Given the description of an element on the screen output the (x, y) to click on. 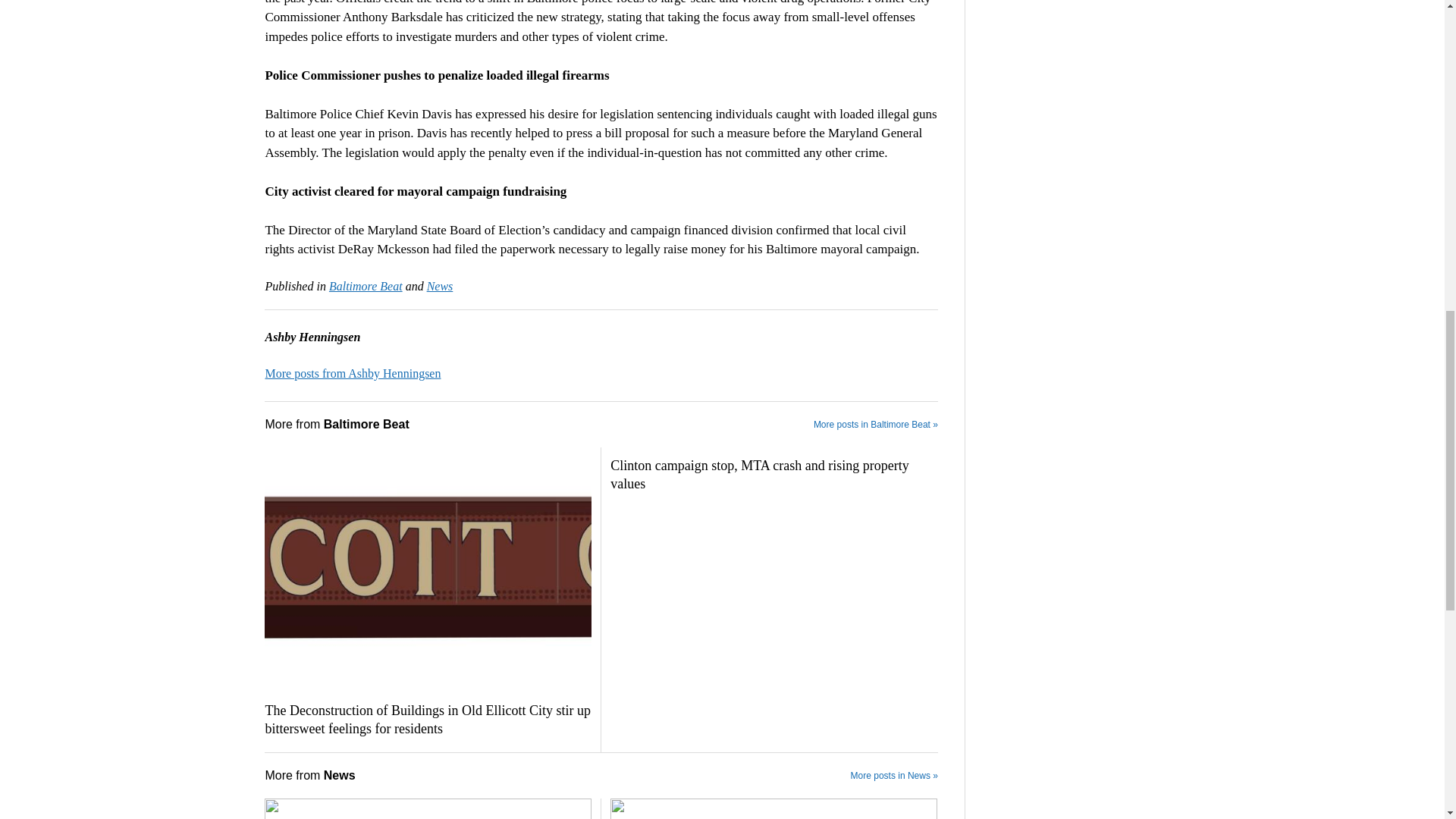
Baltimore Beat (366, 286)
News (439, 286)
Ashby Henningsen (352, 373)
View all posts in Baltimore Beat (366, 286)
View all posts in News (439, 286)
More posts from Ashby Henningsen (352, 373)
Clinton campaign stop, MTA crash and rising property values (773, 475)
